Given the description of an element on the screen output the (x, y) to click on. 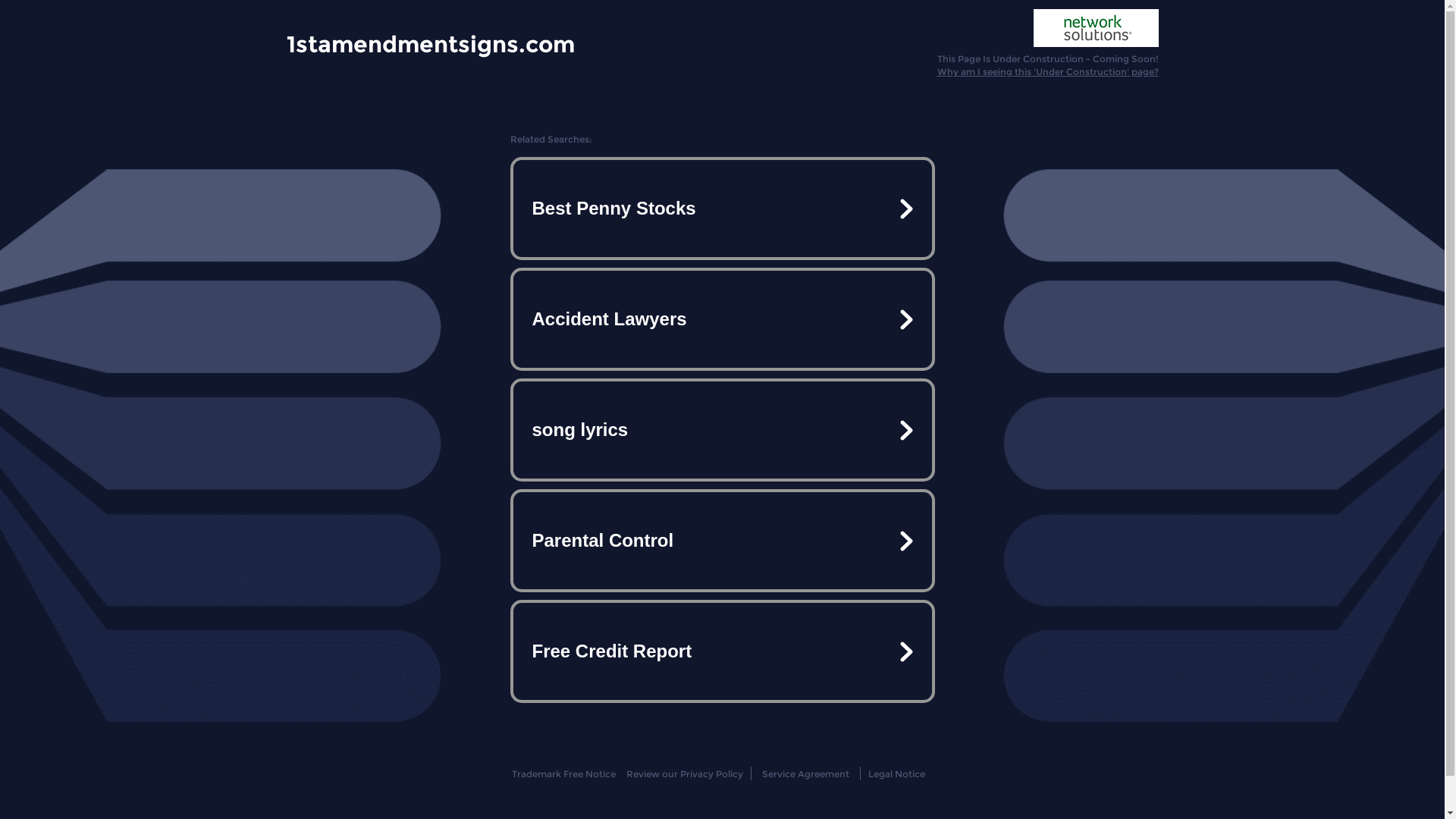
Trademark Free Notice Element type: text (563, 773)
Why am I seeing this 'Under Construction' page? Element type: text (1047, 71)
song lyrics Element type: text (721, 429)
Accident Lawyers Element type: text (721, 318)
Free Credit Report Element type: text (721, 650)
Service Agreement Element type: text (805, 773)
Best Penny Stocks Element type: text (721, 208)
Legal Notice Element type: text (896, 773)
Review our Privacy Policy Element type: text (684, 773)
1stamendmentsigns.com Element type: text (430, 43)
Parental Control Element type: text (721, 540)
